Given the description of an element on the screen output the (x, y) to click on. 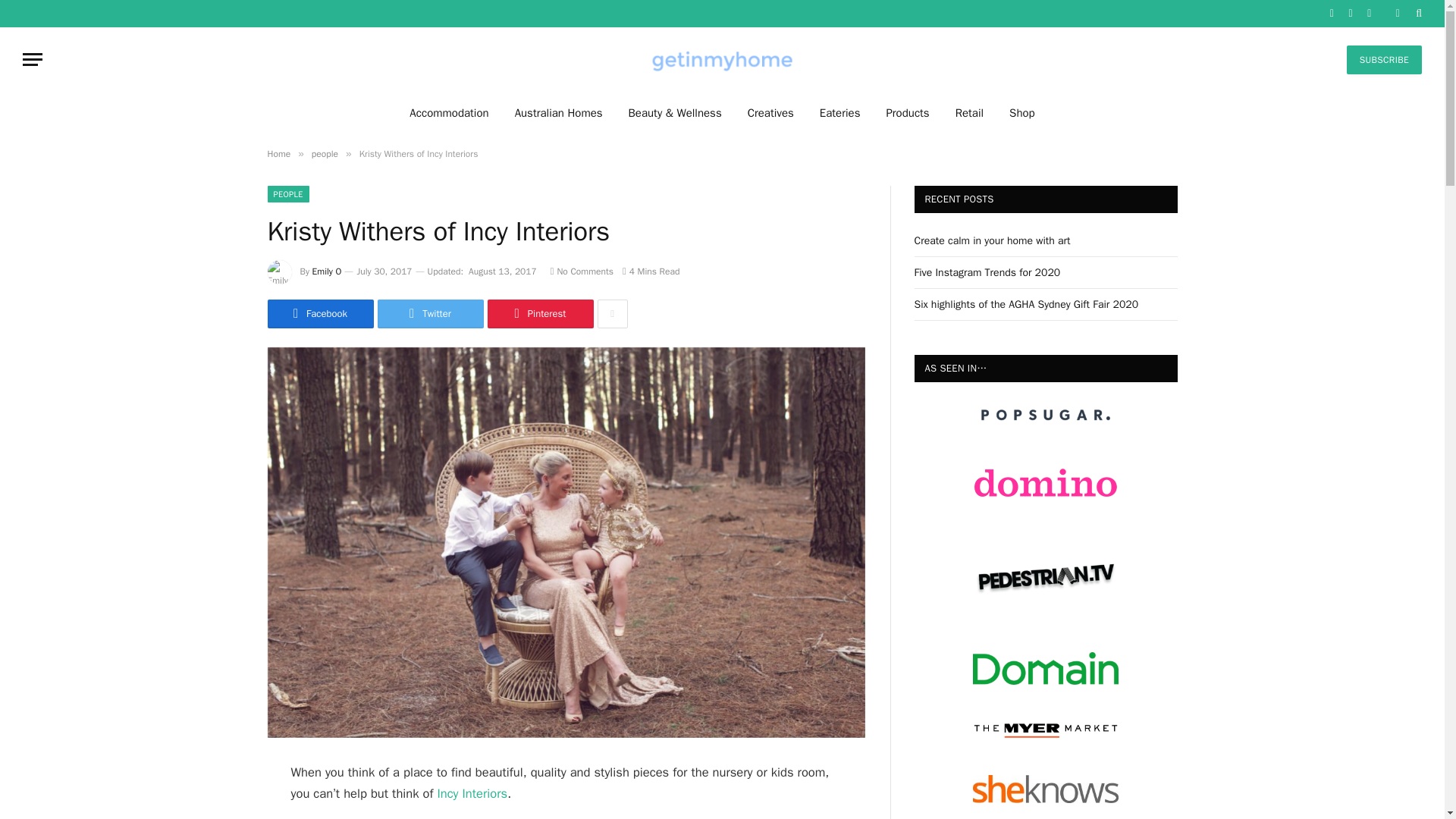
Retail (968, 112)
Share on Pinterest (539, 313)
Accommodation (448, 112)
Eateries (839, 112)
Home (277, 153)
Switch to Dark Design - easier on eyes. (1397, 13)
people (324, 153)
Posts by Emily O (327, 271)
Shop (1021, 112)
Get In My Home (721, 59)
PEOPLE (287, 193)
Share on Facebook (319, 313)
Products (907, 112)
Twitter (430, 313)
Australian Homes (558, 112)
